Given the description of an element on the screen output the (x, y) to click on. 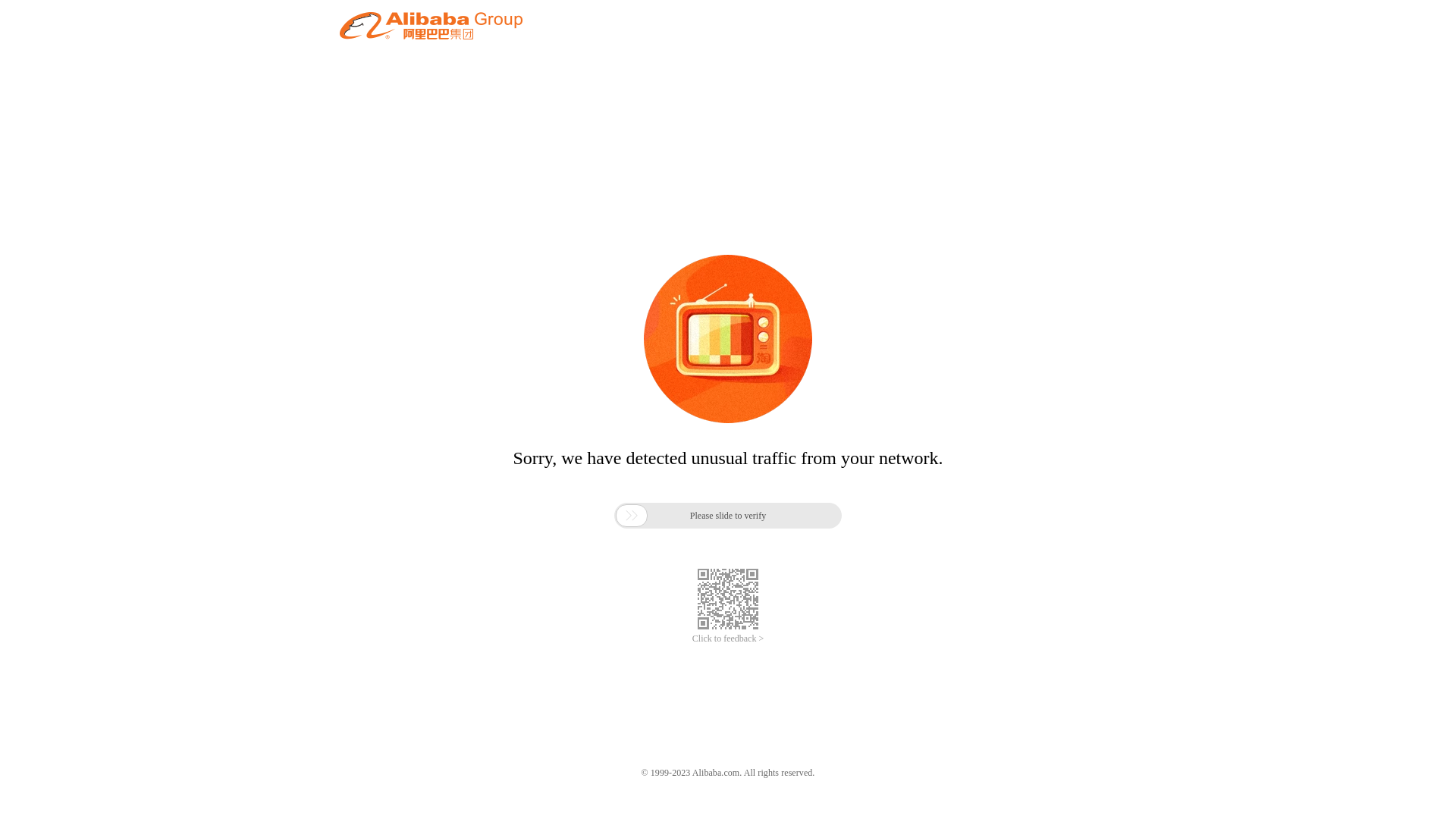
Click to feedback > Element type: text (727, 638)
